Given the description of an element on the screen output the (x, y) to click on. 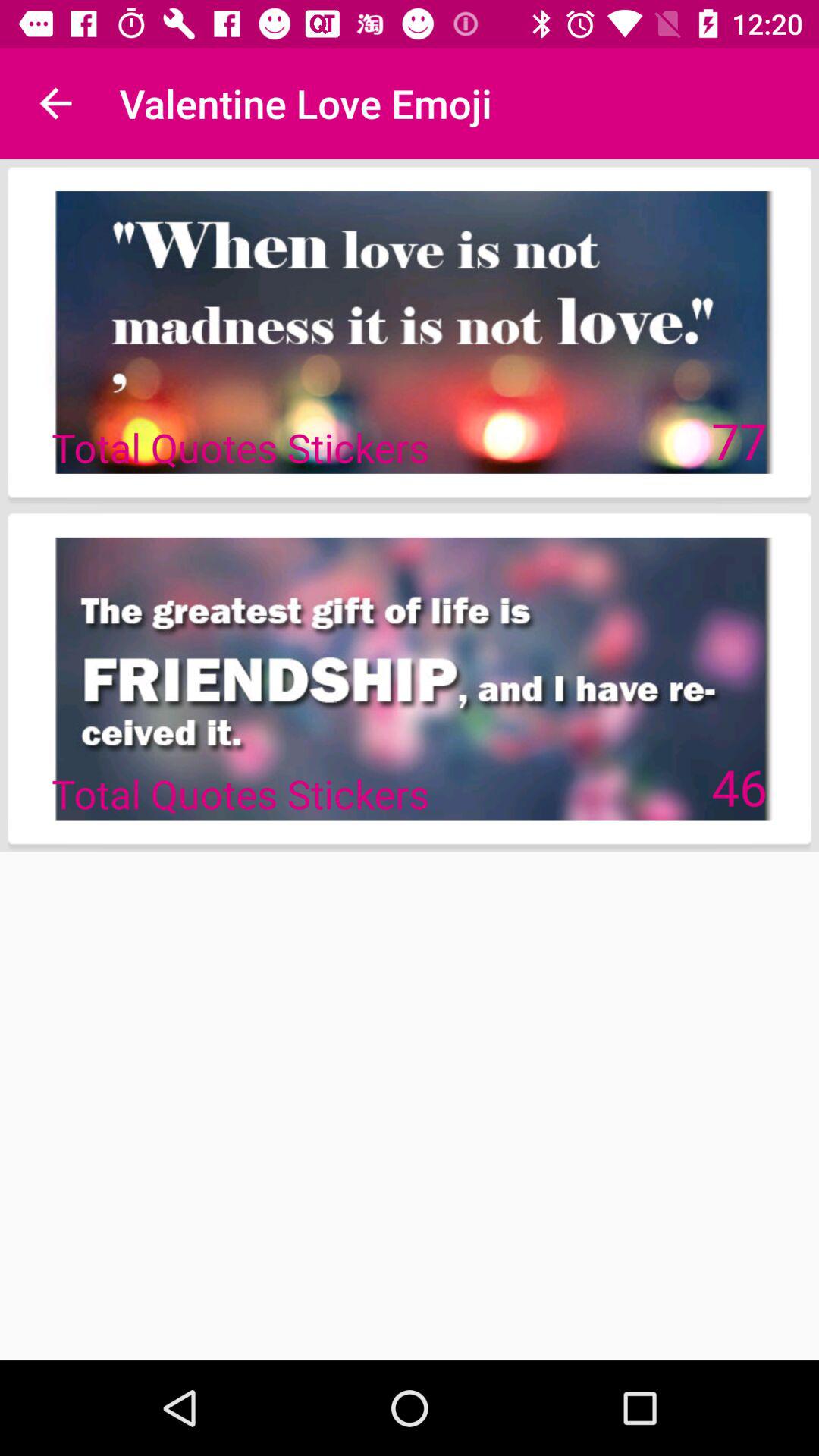
turn off icon at the top right corner (739, 440)
